Given the description of an element on the screen output the (x, y) to click on. 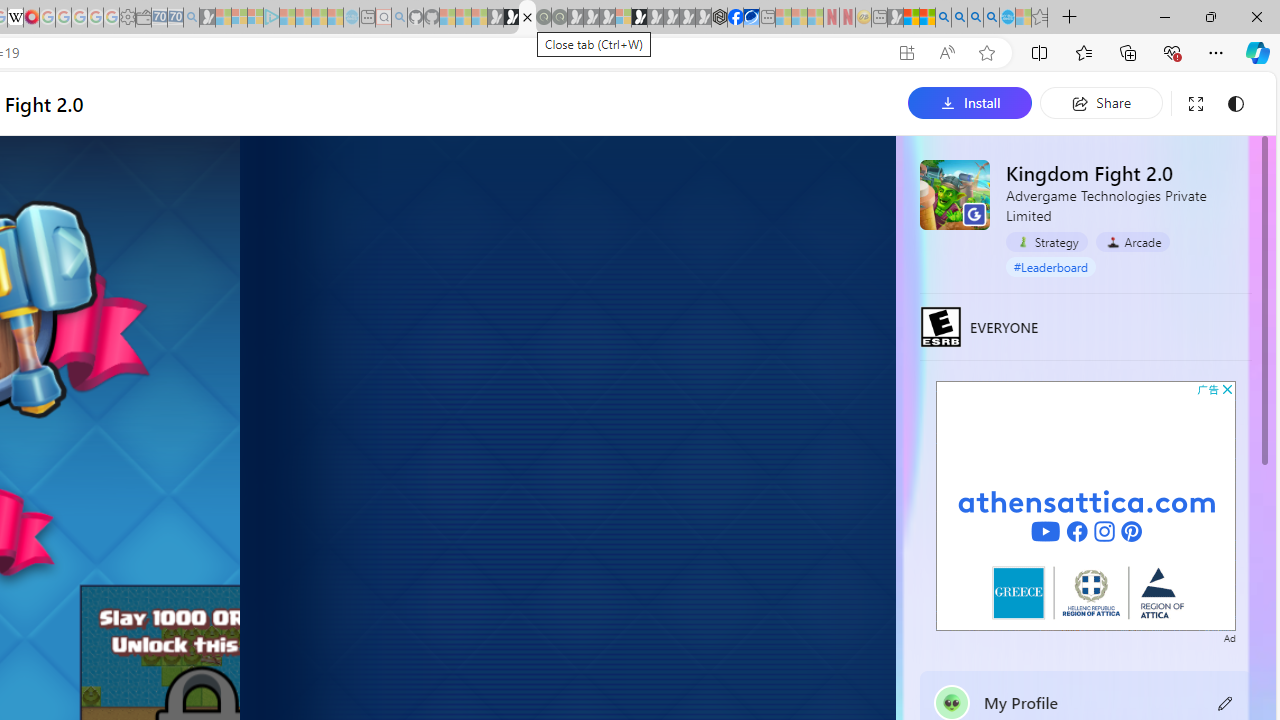
Future Focus Report 2024 - Sleeping (559, 17)
Advertisement (1085, 505)
Install (970, 102)
Change to dark mode (1235, 103)
Services - Maintenance | Sky Blue Bikes - Sky Blue Bikes (1007, 17)
Sign in to your account - Sleeping (623, 17)
